Given the description of an element on the screen output the (x, y) to click on. 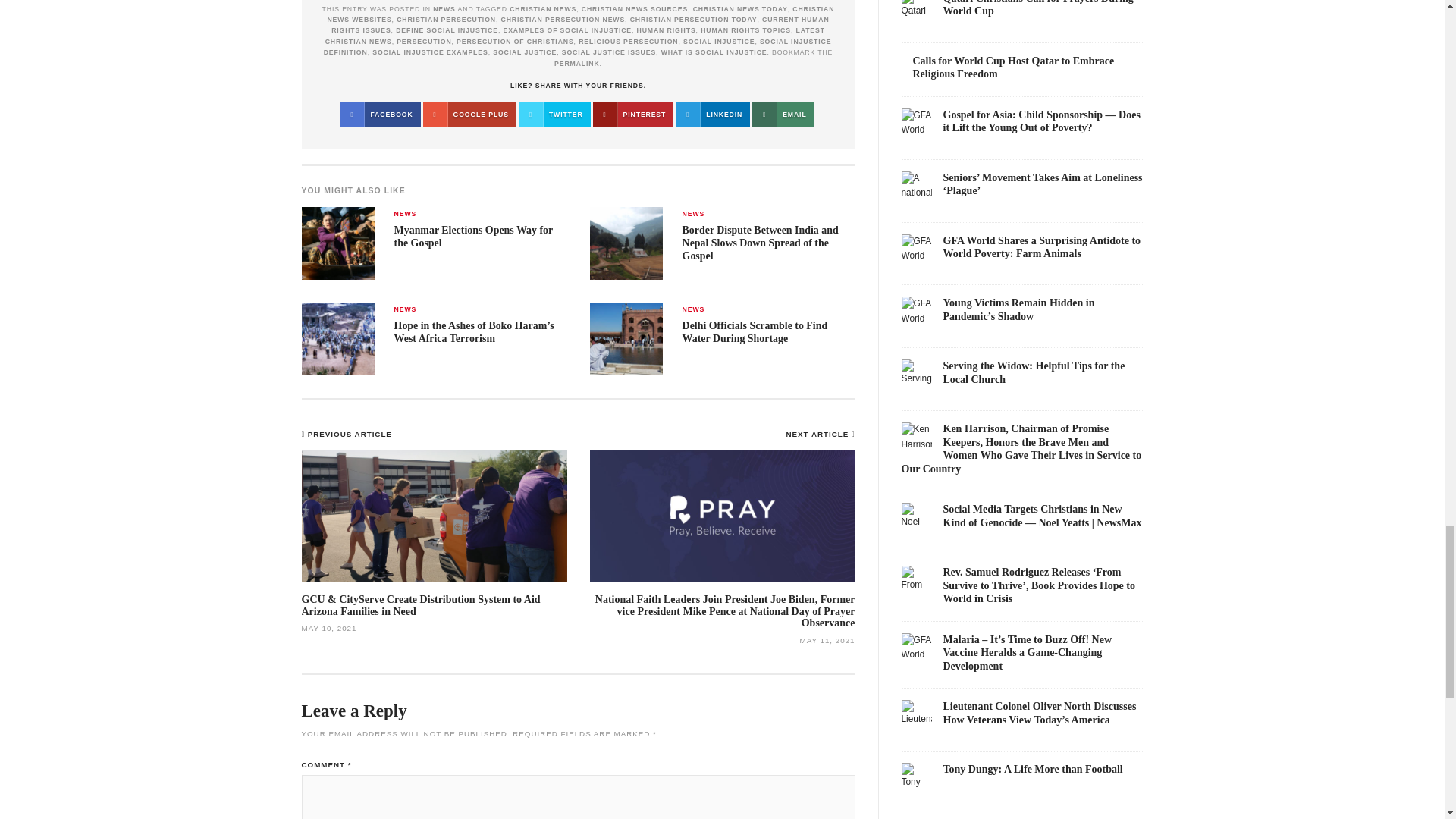
CHRISTIAN NEWS SOURCES (633, 8)
CHRISTIAN NEWS WEBSITES (580, 13)
CHRISTIAN PERSECUTION NEWS (562, 19)
CHRISTIAN NEWS (542, 8)
CHRISTIAN PERSECUTION (446, 19)
CHRISTIAN NEWS TODAY (740, 8)
NEWS (443, 8)
